Given the description of an element on the screen output the (x, y) to click on. 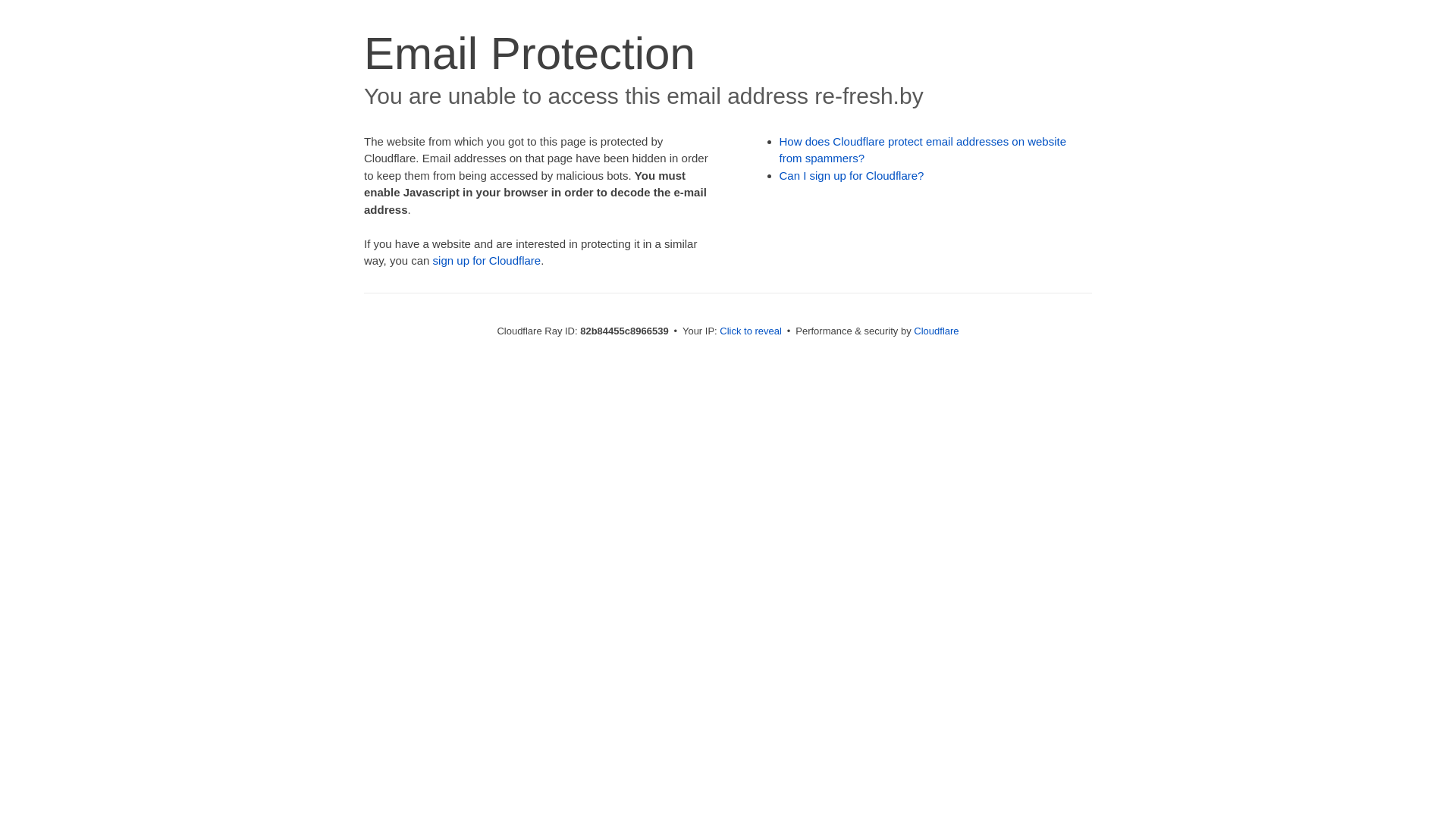
Click to reveal Element type: text (750, 330)
Can I sign up for Cloudflare? Element type: text (851, 175)
sign up for Cloudflare Element type: text (487, 260)
Cloudflare Element type: text (935, 330)
